Given the description of an element on the screen output the (x, y) to click on. 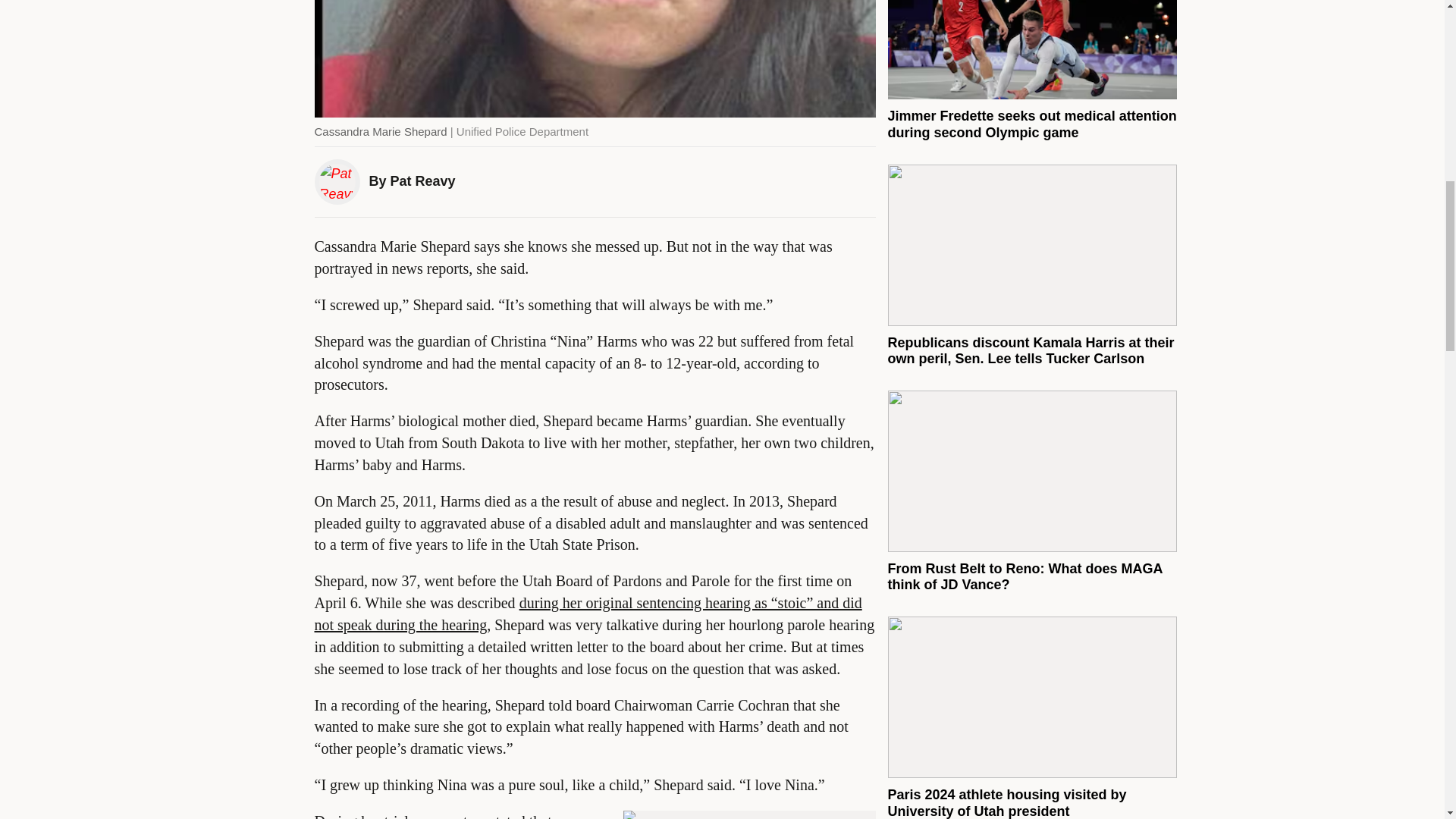
From Rust Belt to Reno: What does MAGA think of JD Vance? (1023, 576)
Pat Reavy (422, 181)
